Given the description of an element on the screen output the (x, y) to click on. 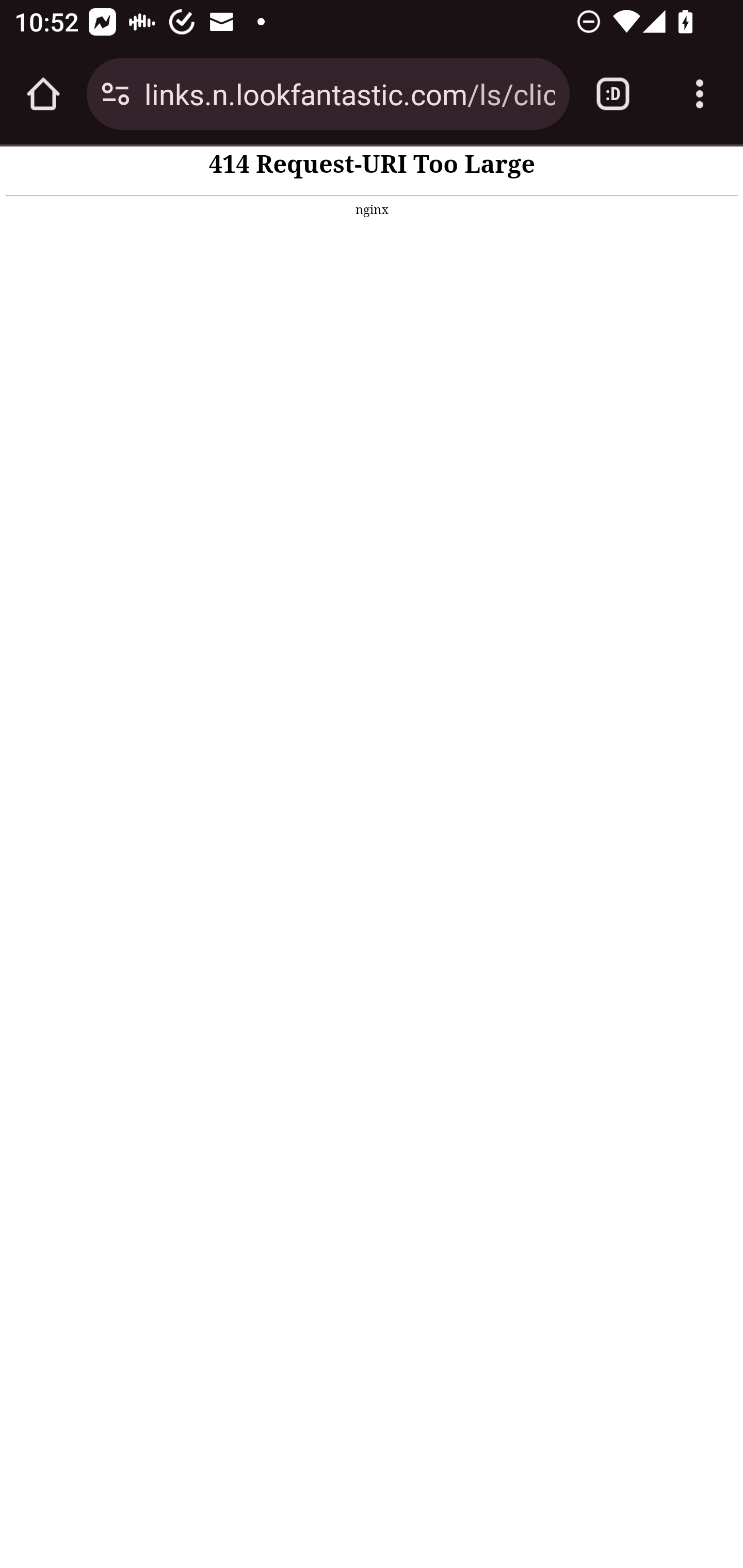
Open the home page (43, 93)
Connection is secure (115, 93)
Switch or close tabs (612, 93)
Customize and control Google Chrome (699, 93)
